Given the description of an element on the screen output the (x, y) to click on. 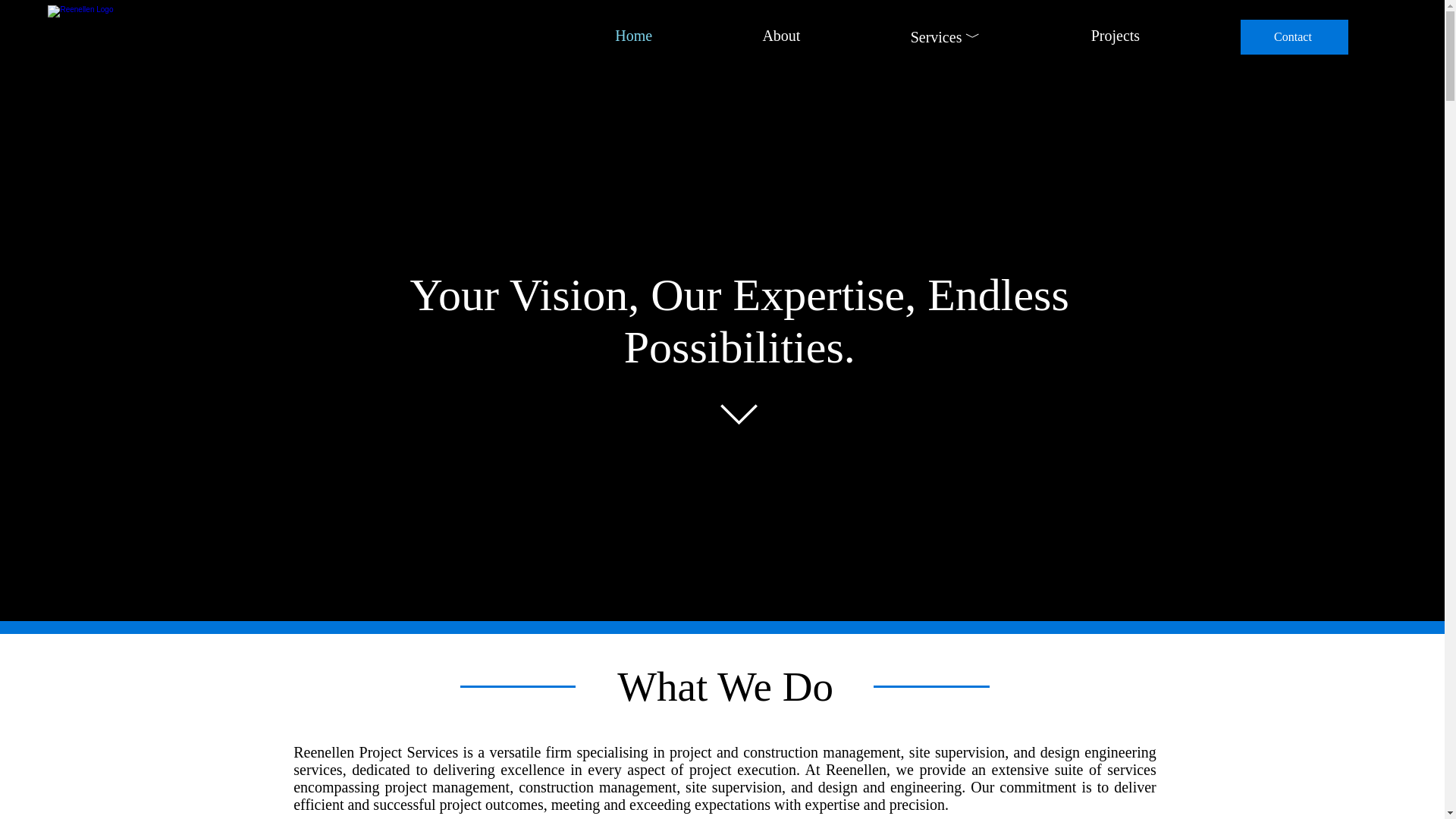
About (736, 35)
Projects (1070, 35)
Home (588, 35)
Contact (1294, 36)
